Given the description of an element on the screen output the (x, y) to click on. 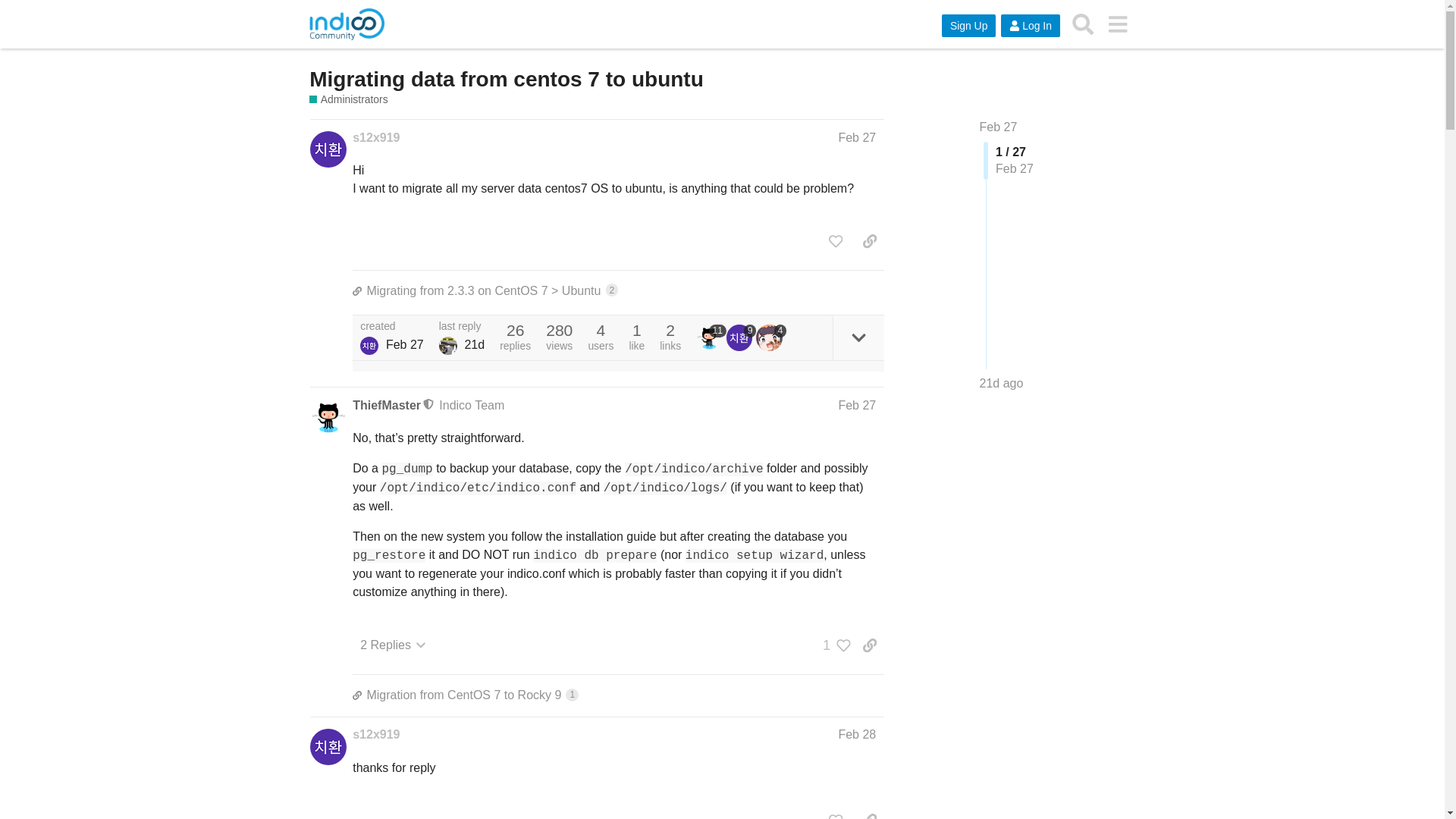
21d ago (617, 695)
9 (1001, 383)
s12x919 (741, 337)
Jump to the first post (375, 137)
4 (998, 126)
DYK (770, 337)
like this post (448, 345)
ThiefMaster (835, 240)
Migrating data from centos 7 to ubuntu (710, 337)
ThiefMaster (505, 78)
Jump to the last post (386, 405)
Feb 27, 2024 5:15 pm (1001, 382)
copy a link to this post to clipboard (404, 344)
